Given the description of an element on the screen output the (x, y) to click on. 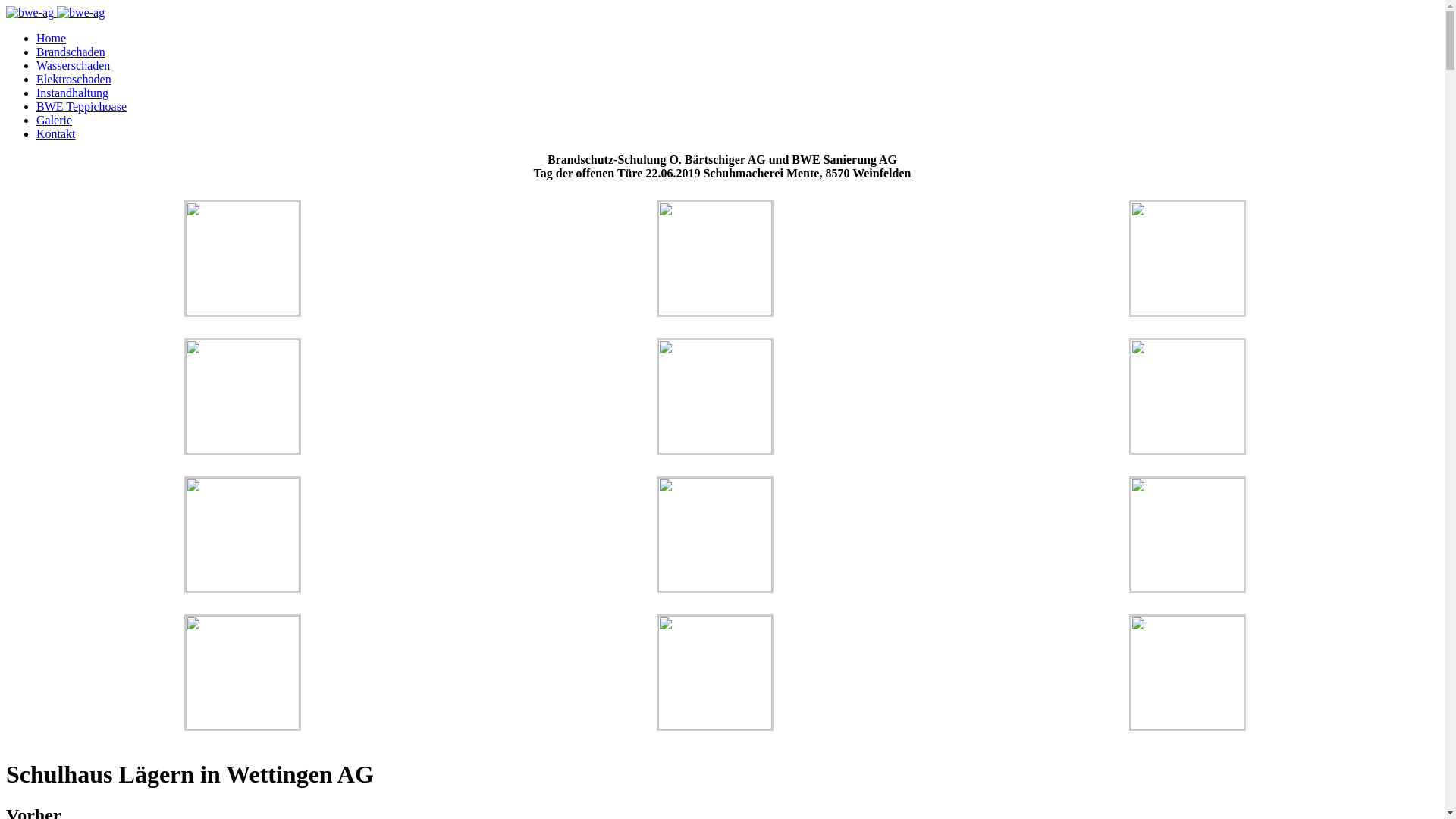
BWE Teppichoase Element type: text (81, 106)
Brandschaden Element type: text (70, 51)
Wasserschaden Element type: text (72, 65)
Instandhaltung Element type: text (72, 92)
Galerie Element type: text (54, 119)
Kontakt Element type: text (55, 133)
Home Element type: text (50, 37)
Elektroschaden Element type: text (73, 78)
